Given the description of an element on the screen output the (x, y) to click on. 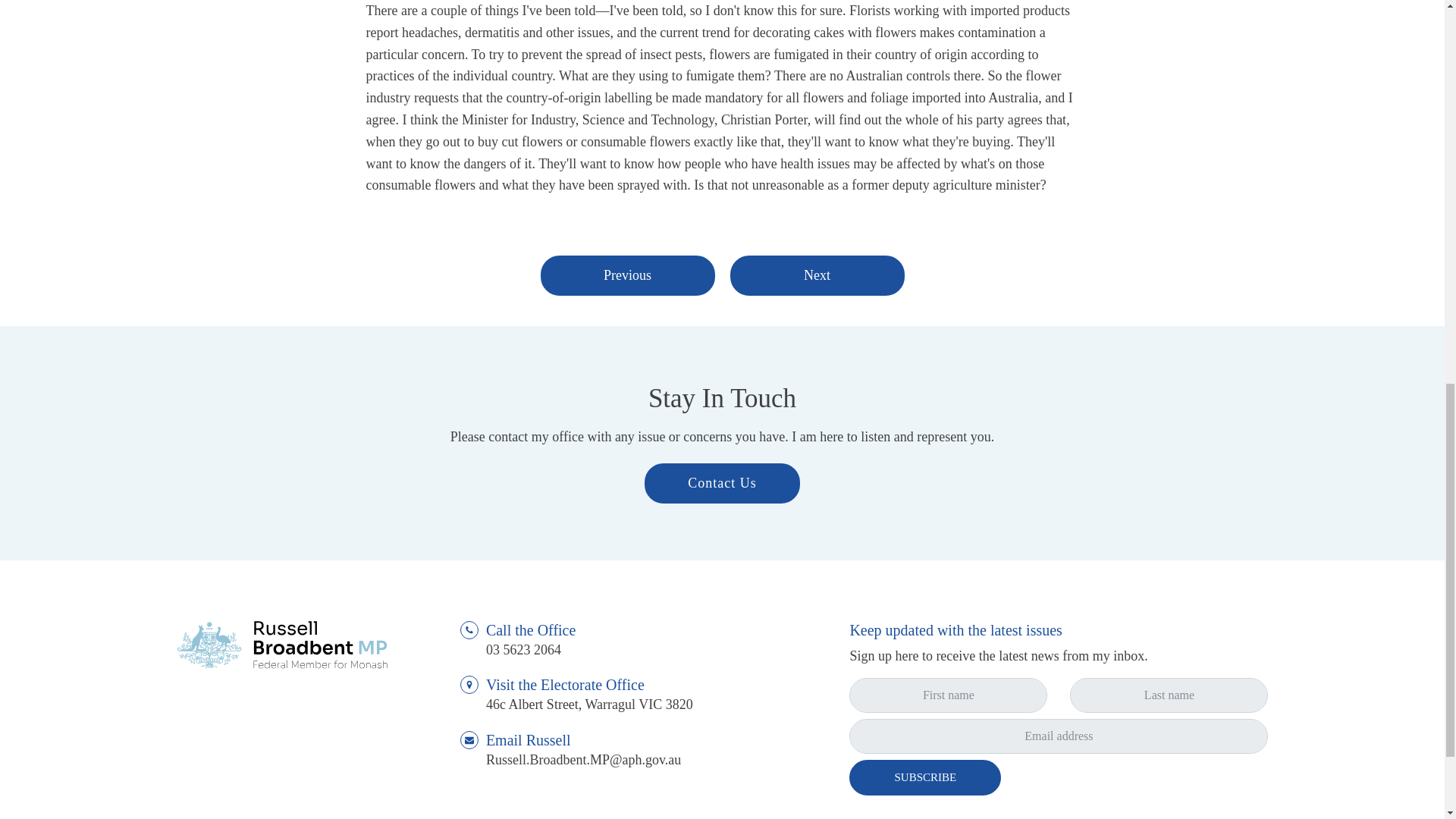
Previous (627, 275)
Next (816, 275)
SUBSCRIBE (924, 777)
03 5623 2064 (523, 649)
Contact Us (722, 483)
